Given the description of an element on the screen output the (x, y) to click on. 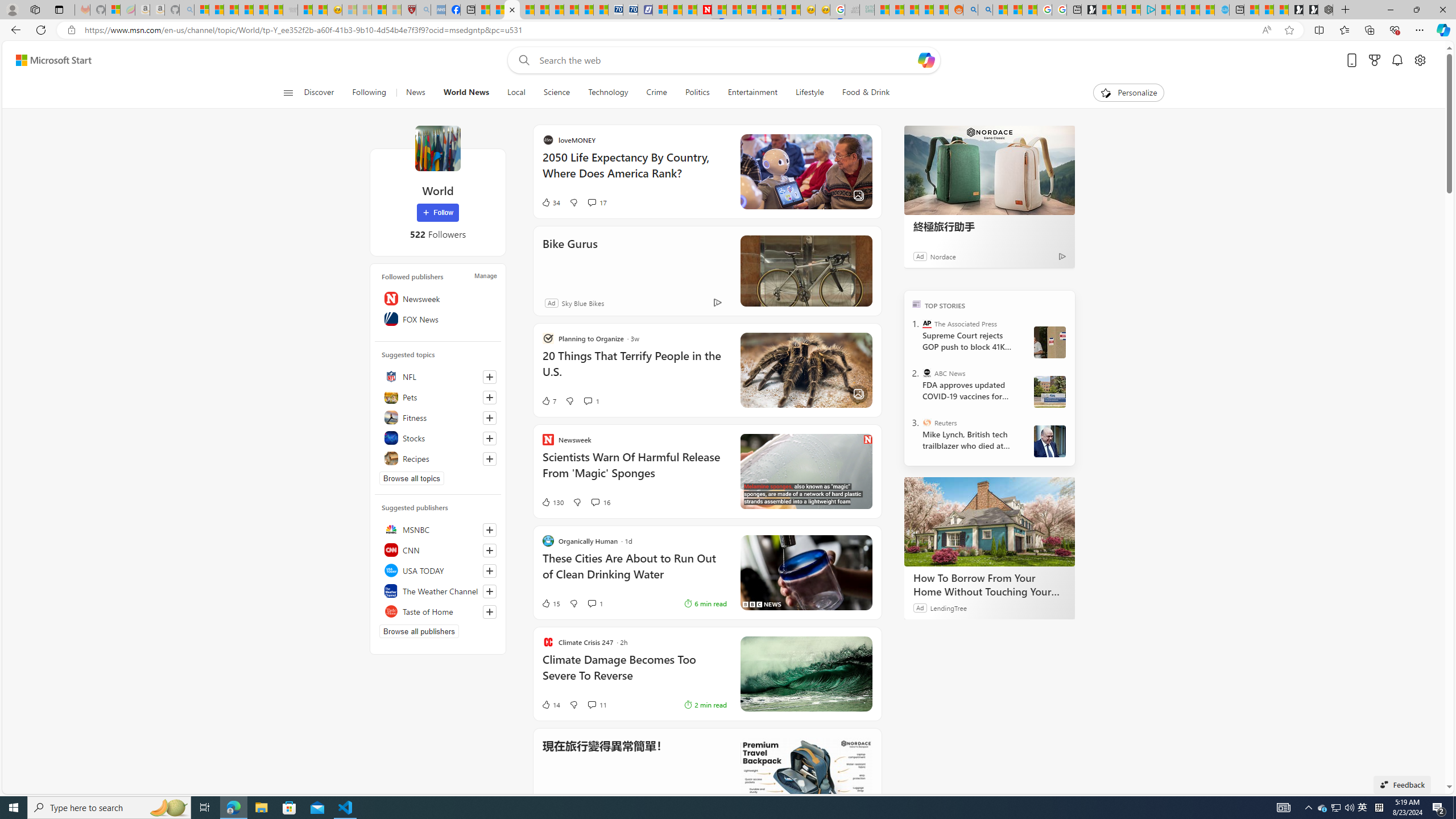
Follow this source (489, 611)
Browse all publishers (419, 631)
New Report Confirms 2023 Was Record Hot | Watch (260, 9)
Follow this source (489, 612)
